Given the description of an element on the screen output the (x, y) to click on. 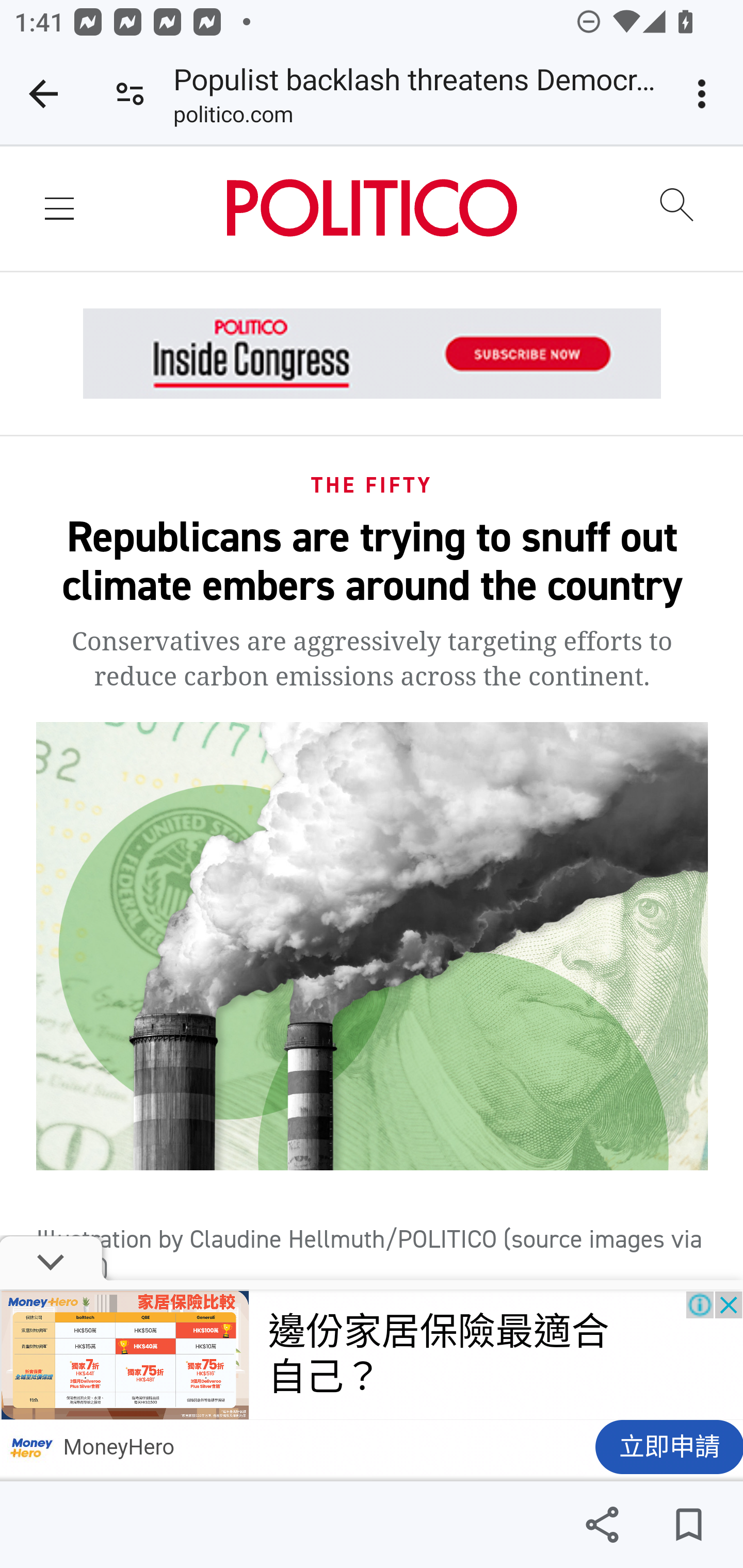
Close tab (43, 93)
Customize and control Google Chrome (705, 93)
Connection is secure (129, 93)
politico.com (232, 117)
Master menu (60, 207)
POLITICO POLITICO POLITICO (371, 207)
Open search form (676, 206)
THE FIFTY (372, 484)
立即申請 (668, 1452)
Share (601, 1524)
Save for later (688, 1524)
